Given the description of an element on the screen output the (x, y) to click on. 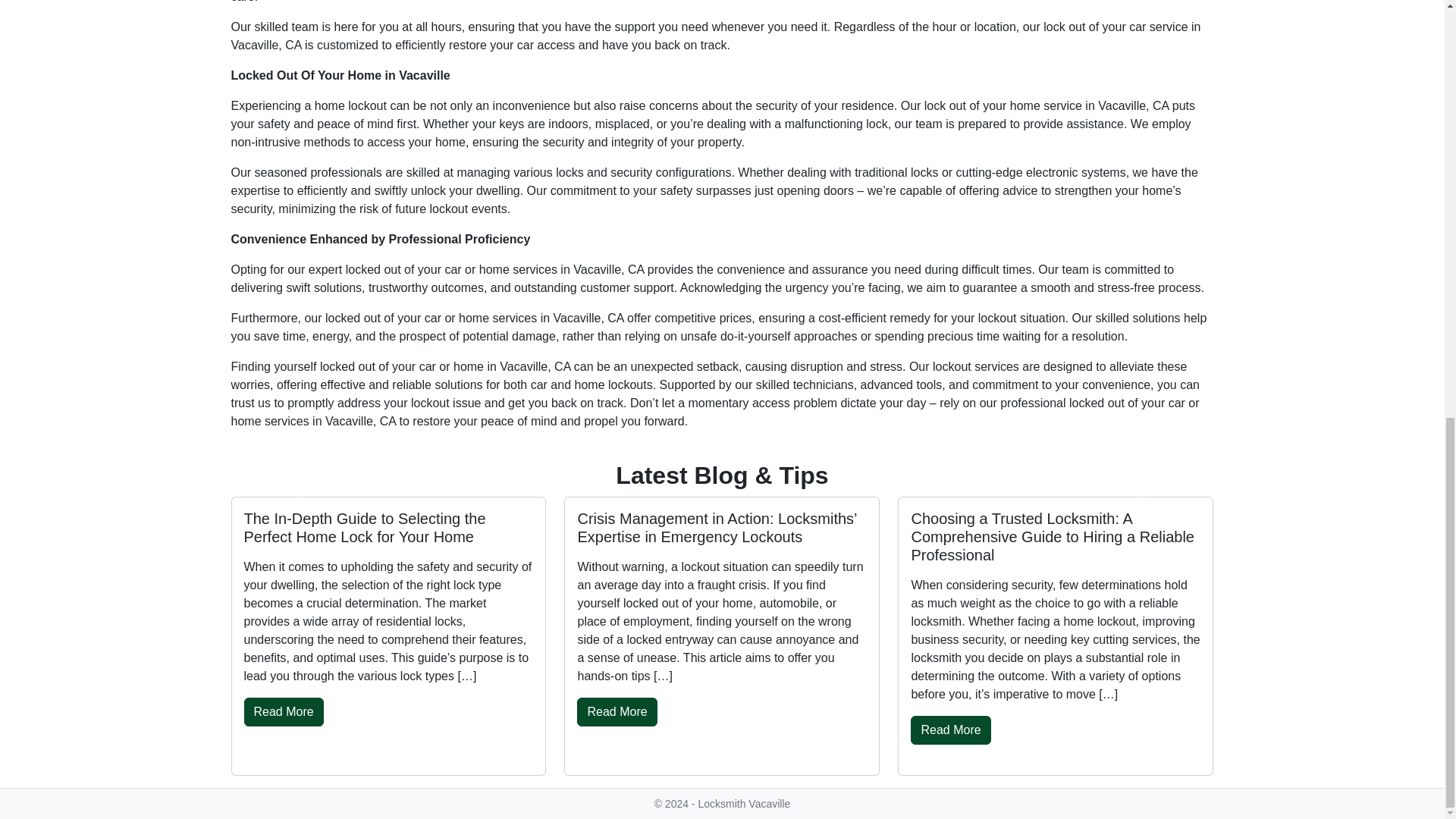
Read More (616, 711)
Read More (283, 711)
Read More (950, 729)
